Given the description of an element on the screen output the (x, y) to click on. 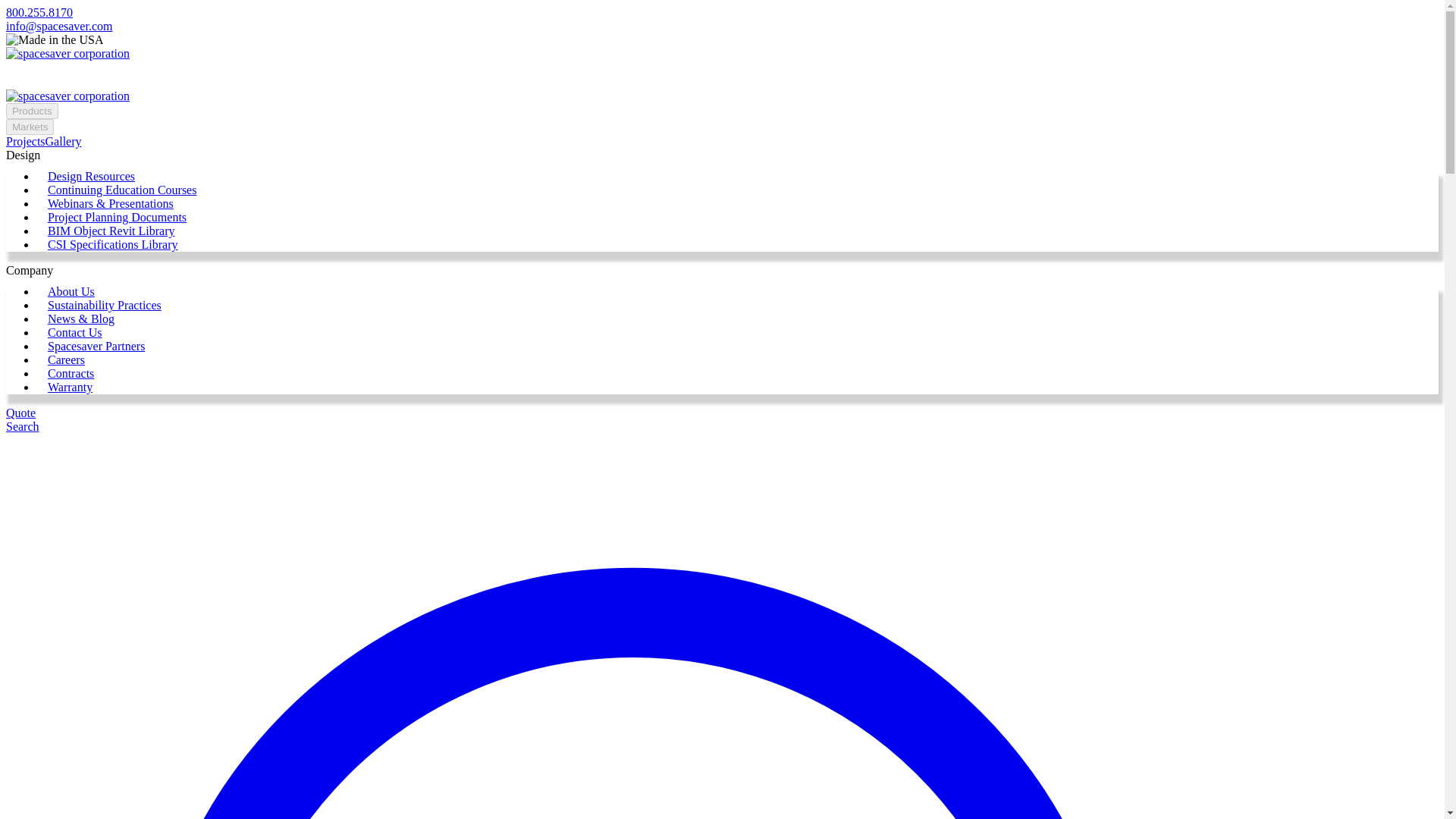
Contact Us (74, 332)
Gallery (63, 141)
Project Planning Documents (117, 216)
Projects (25, 141)
About Us (71, 291)
Products (31, 110)
Spacesaver Partners (95, 346)
CSI Specifications Library (112, 244)
Continuing Education Courses (122, 189)
Sustainability Practices (104, 305)
BIM Object Revit Library (111, 230)
Contracts (70, 373)
Warranty (69, 387)
800.255.8170 (38, 11)
Design Resources (91, 176)
